Given the description of an element on the screen output the (x, y) to click on. 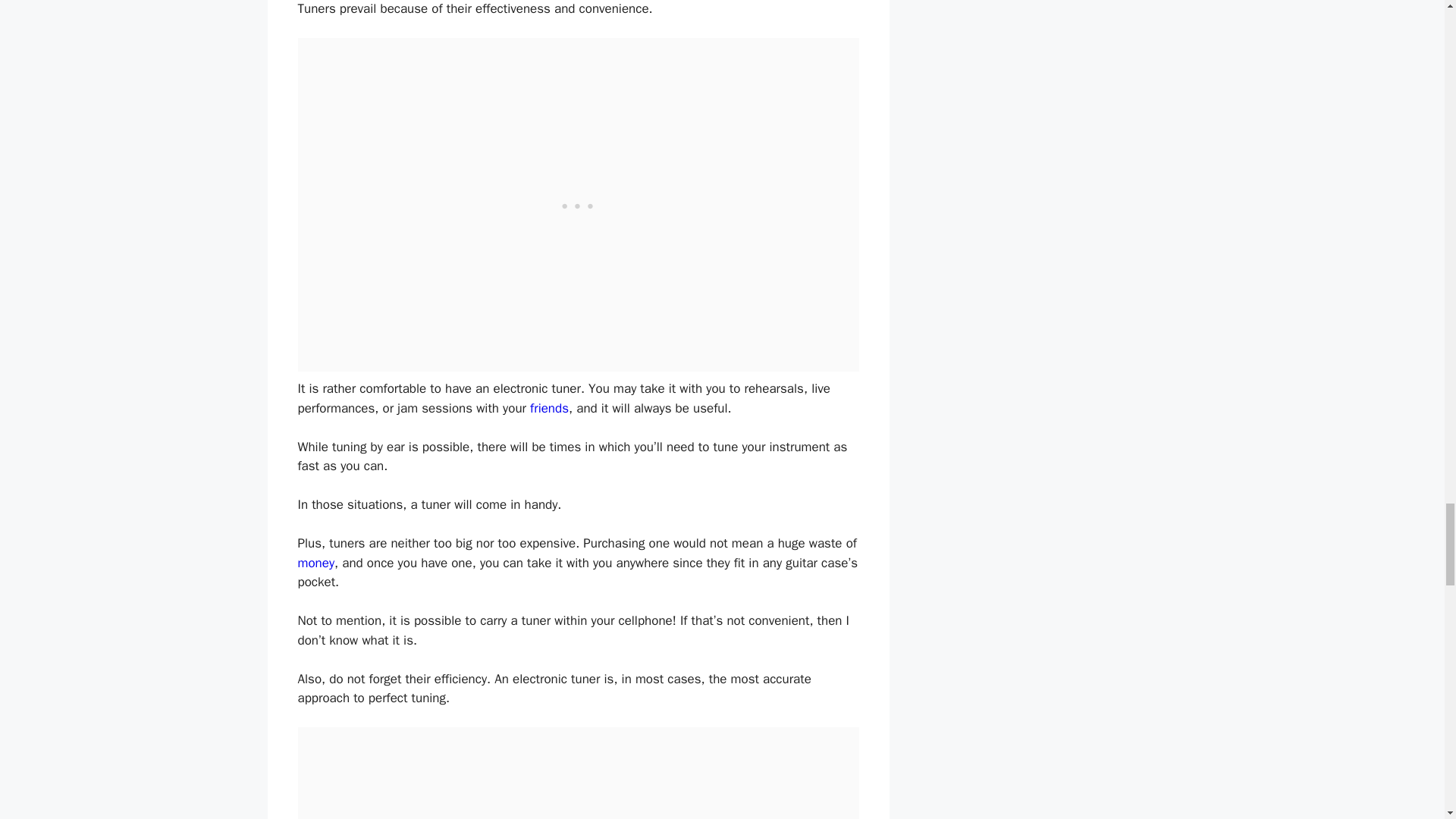
money (315, 562)
friends (549, 408)
